Given the description of an element on the screen output the (x, y) to click on. 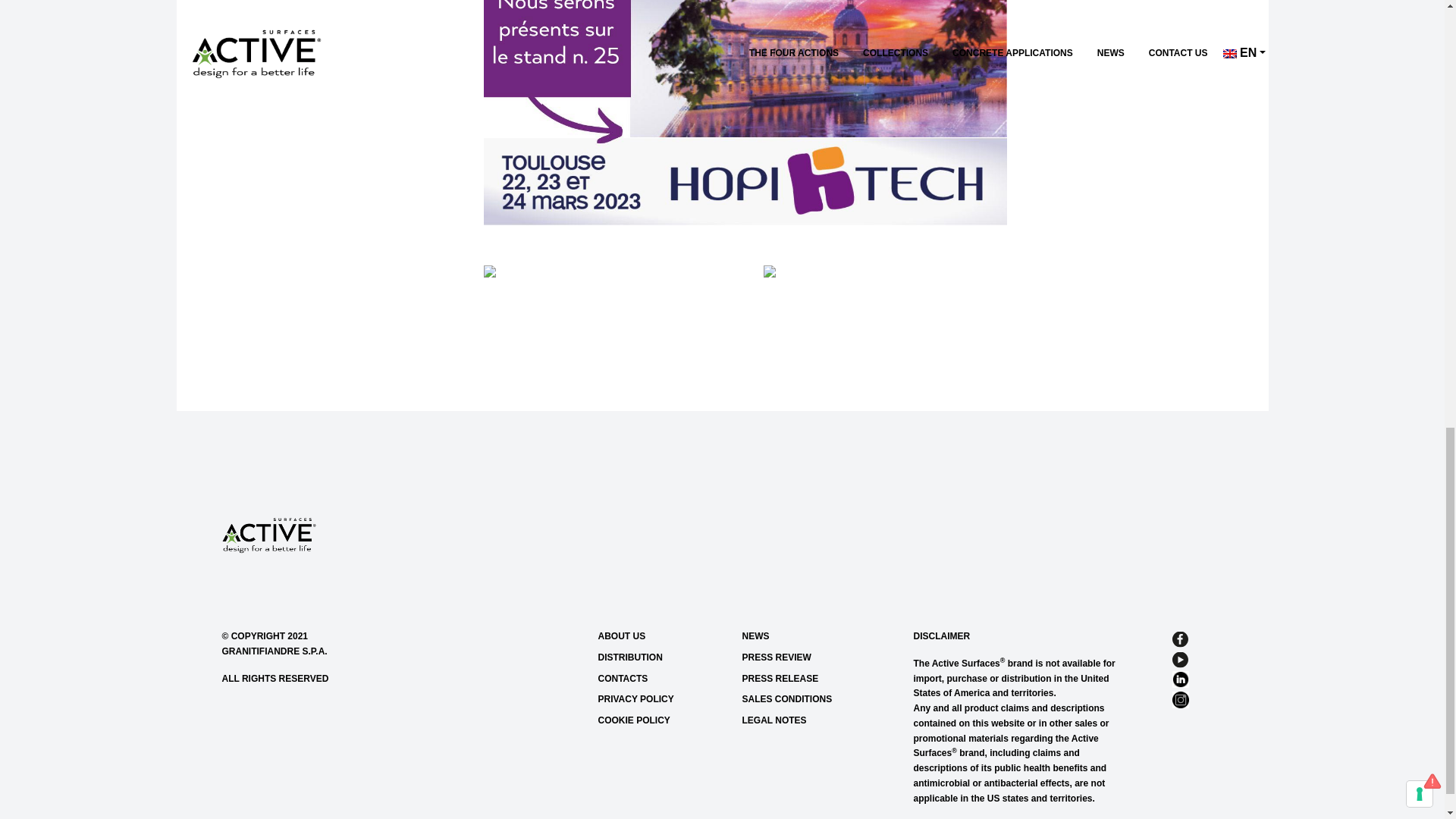
Distribution (664, 657)
PRIVACY POLICY (664, 699)
COOKIE POLICY (664, 720)
LEGAL NOTES (808, 720)
News (808, 636)
Press Review (808, 657)
NEWS (808, 636)
Contacts (664, 678)
ABOUT US (664, 636)
PRESS RELEASE (808, 678)
Cookie Policy (664, 720)
Active Surfaces (268, 533)
ABOUT US (664, 636)
DISTRIBUTION (664, 657)
Privacy Policy (664, 699)
